Given the description of an element on the screen output the (x, y) to click on. 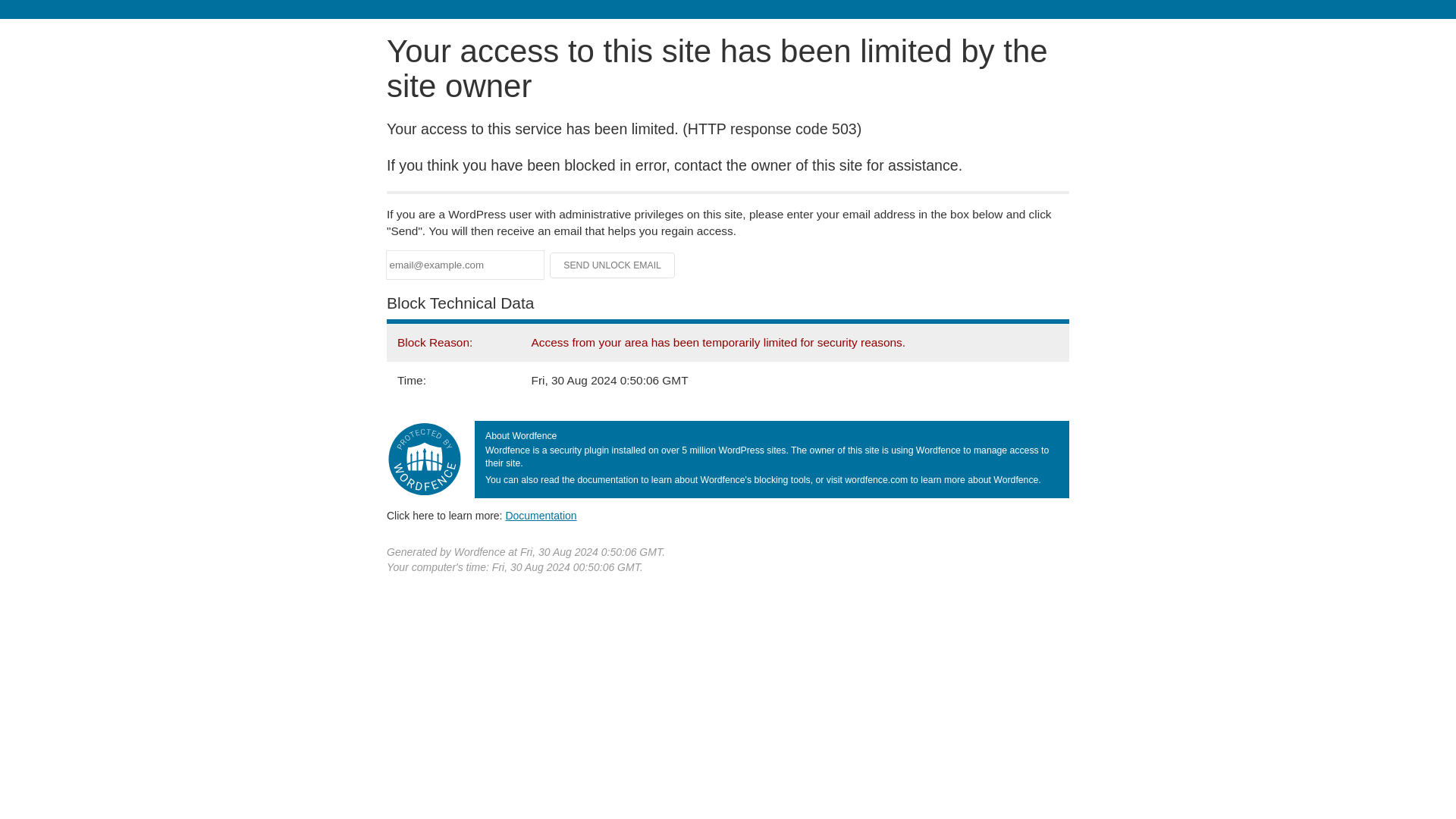
Documentation (540, 515)
Send Unlock Email (612, 265)
Send Unlock Email (612, 265)
